Given the description of an element on the screen output the (x, y) to click on. 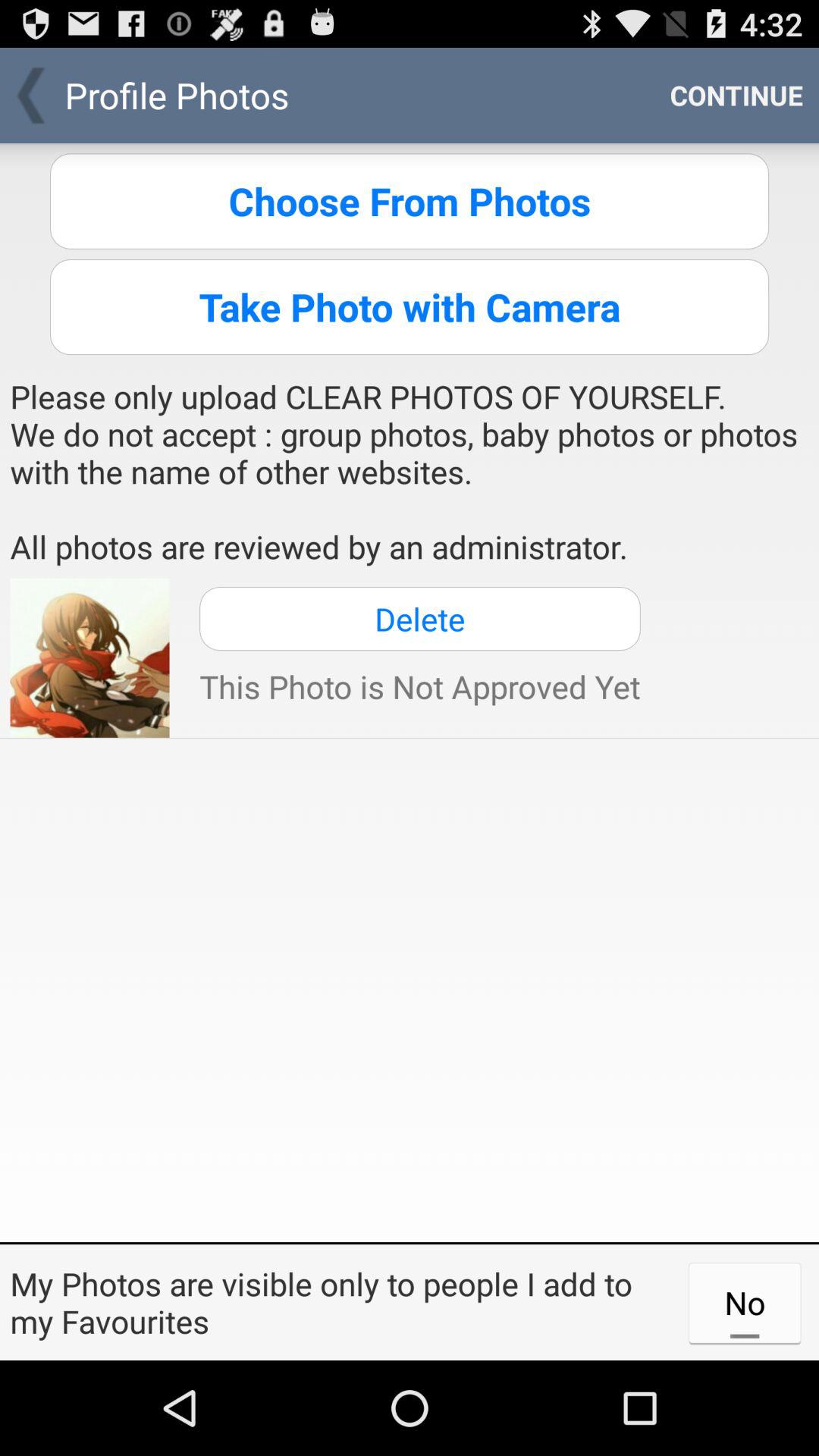
turn on the app next to my photos are app (744, 1302)
